Given the description of an element on the screen output the (x, y) to click on. 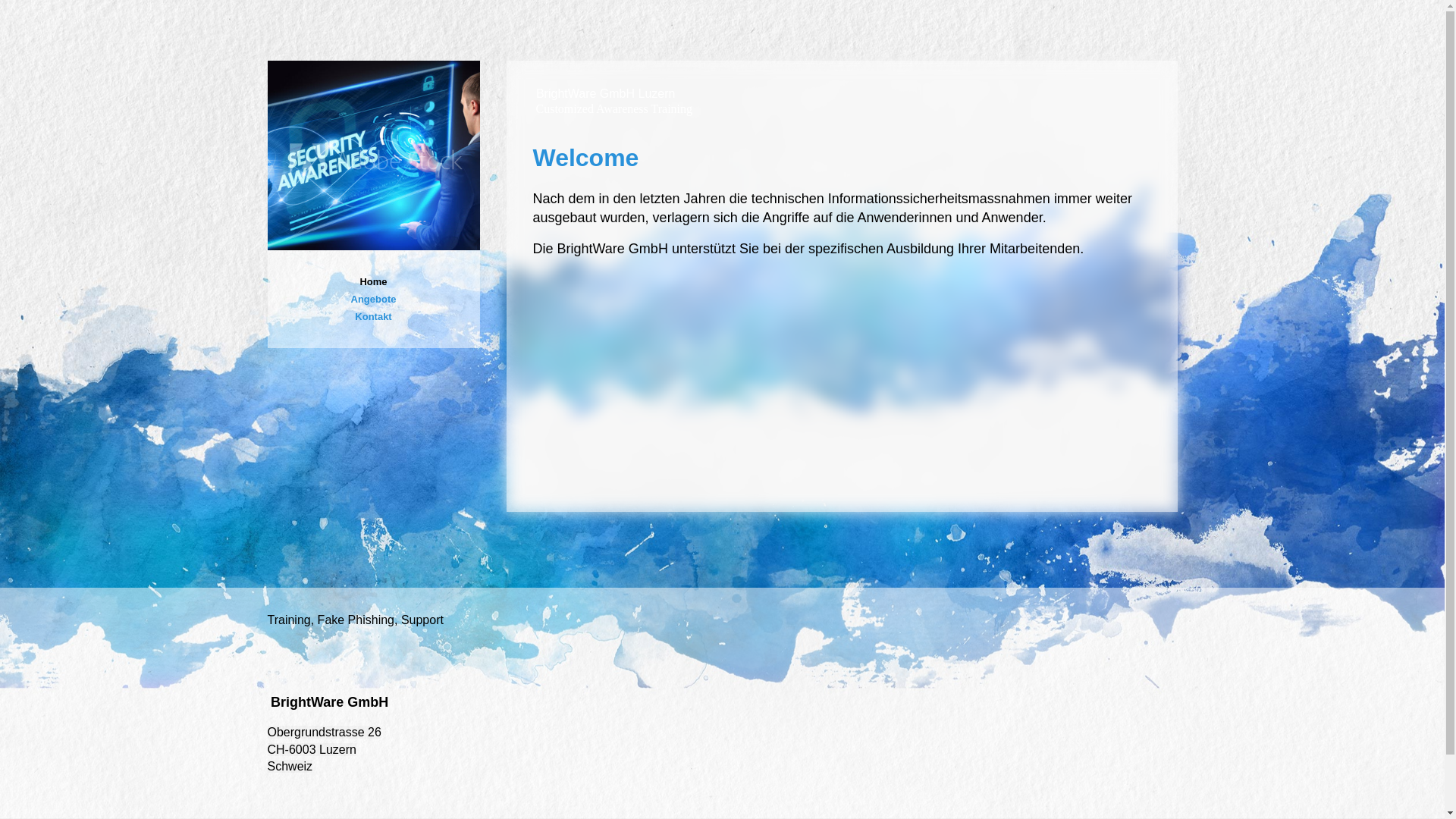
Kontakt Element type: text (372, 316)
Angebote Element type: text (372, 298)
Home Element type: text (372, 281)
